Given the description of an element on the screen output the (x, y) to click on. 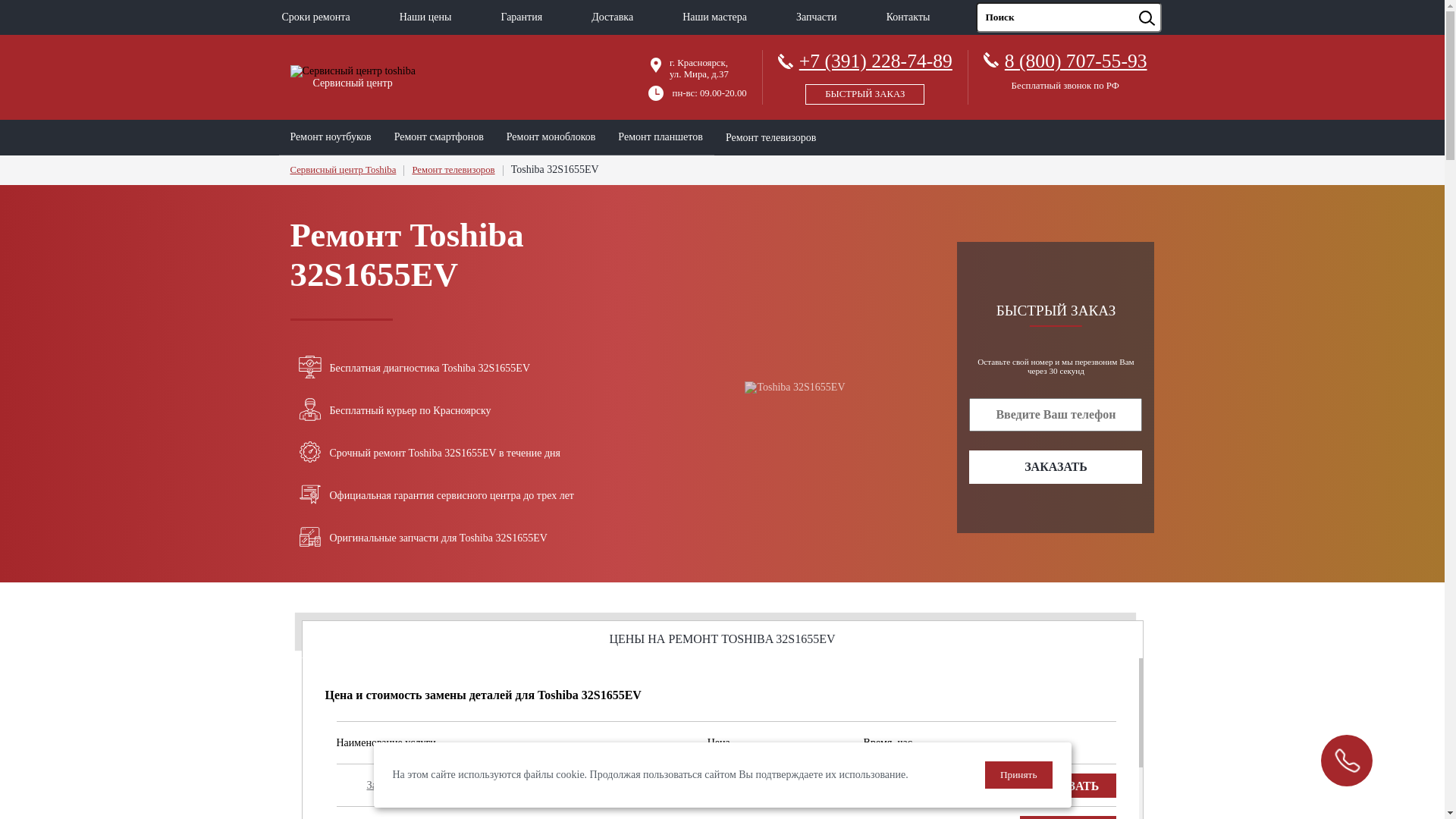
+7 (391) 228-74-89 Element type: text (865, 74)
sisea.search Element type: text (1165, 2)
8 (800) 707-55-93 Element type: text (1075, 61)
